Given the description of an element on the screen output the (x, y) to click on. 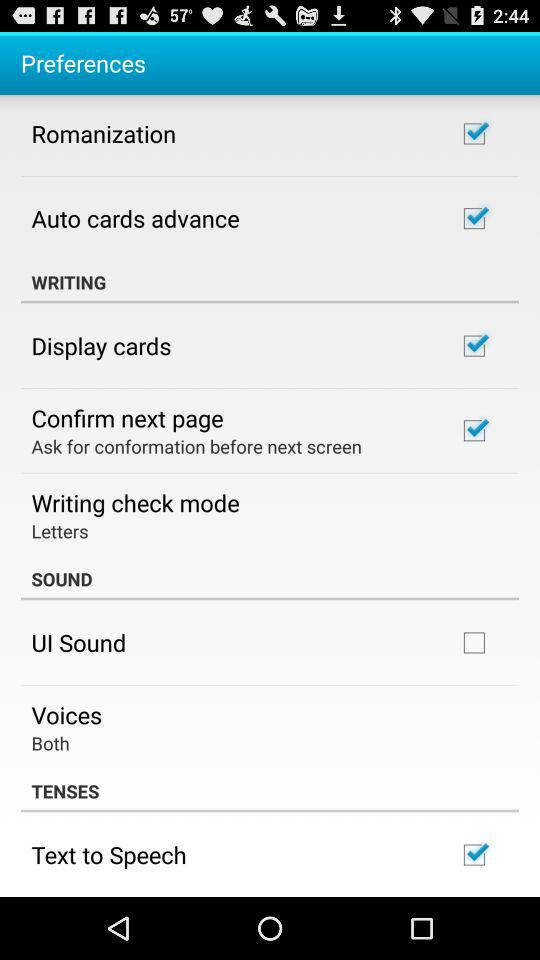
launch the item above the sound (59, 530)
